Given the description of an element on the screen output the (x, y) to click on. 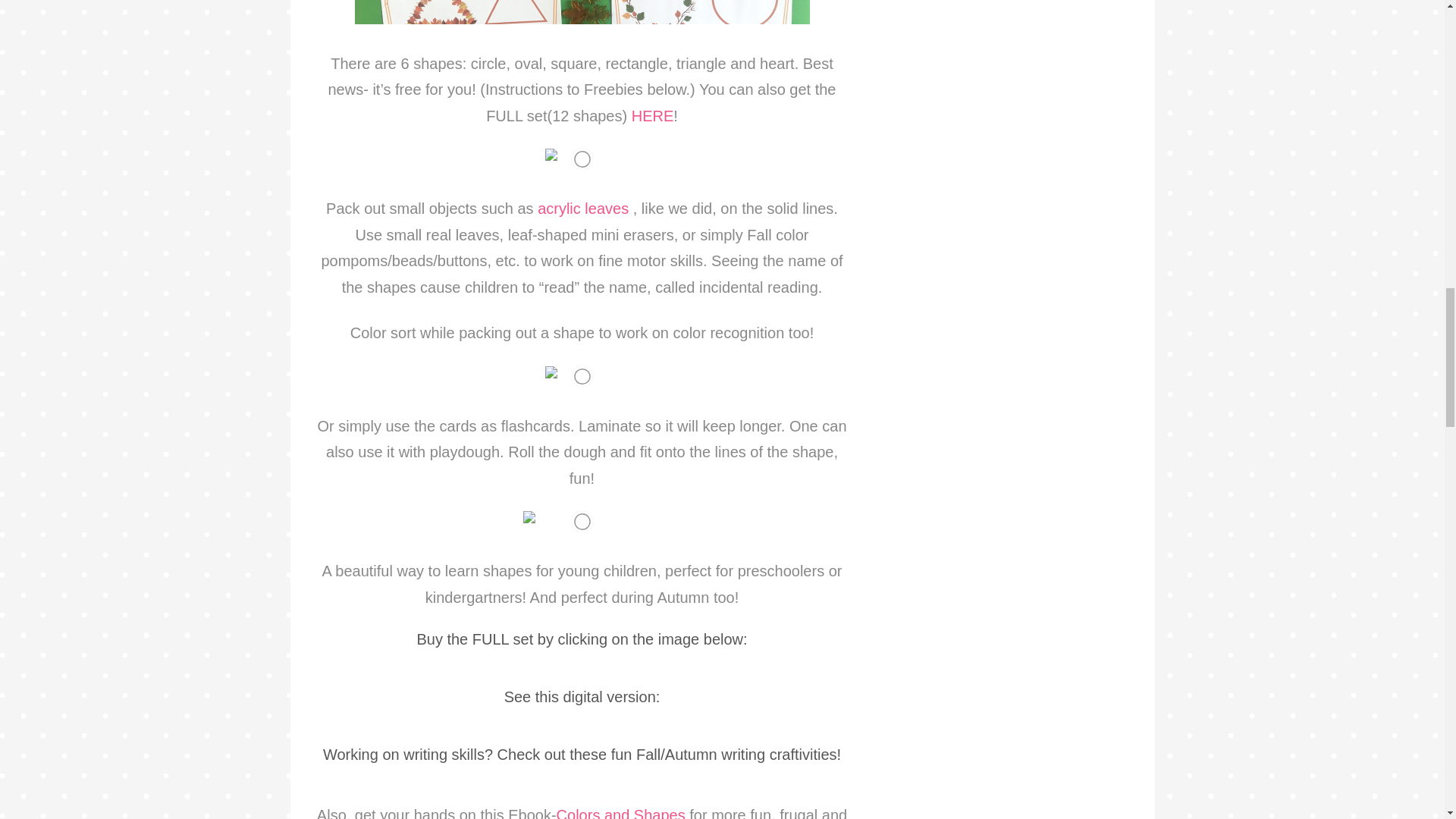
HERE (652, 115)
acrylic leaves (582, 208)
Colors and Shapes (623, 812)
